Given the description of an element on the screen output the (x, y) to click on. 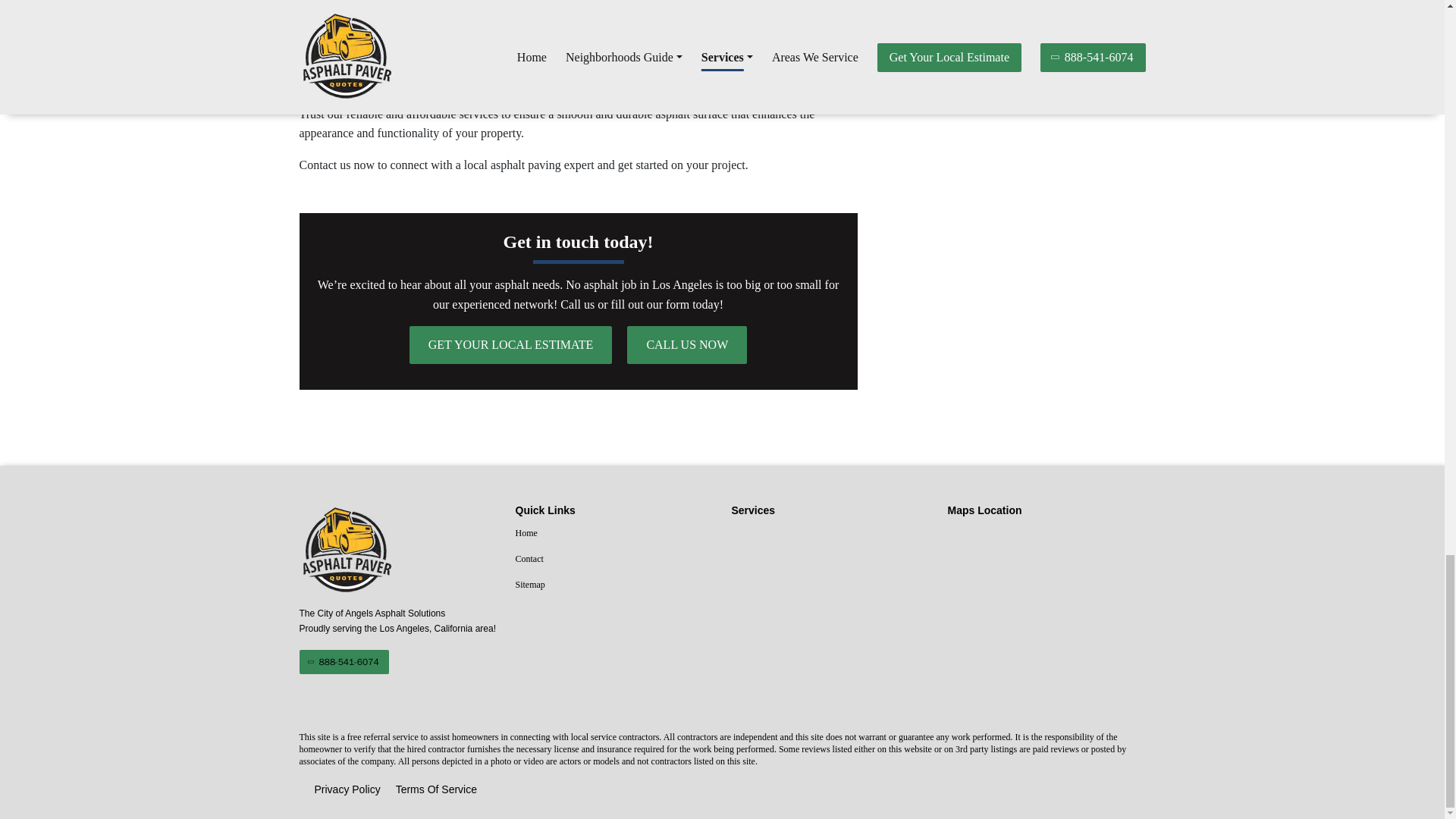
CALL US NOW (686, 344)
GET YOUR LOCAL ESTIMATE (510, 344)
Contact (614, 559)
Sitemap (614, 585)
Terms Of Service (436, 790)
Privacy Policy (347, 790)
Home (614, 533)
888-541-6074 (343, 662)
